Given the description of an element on the screen output the (x, y) to click on. 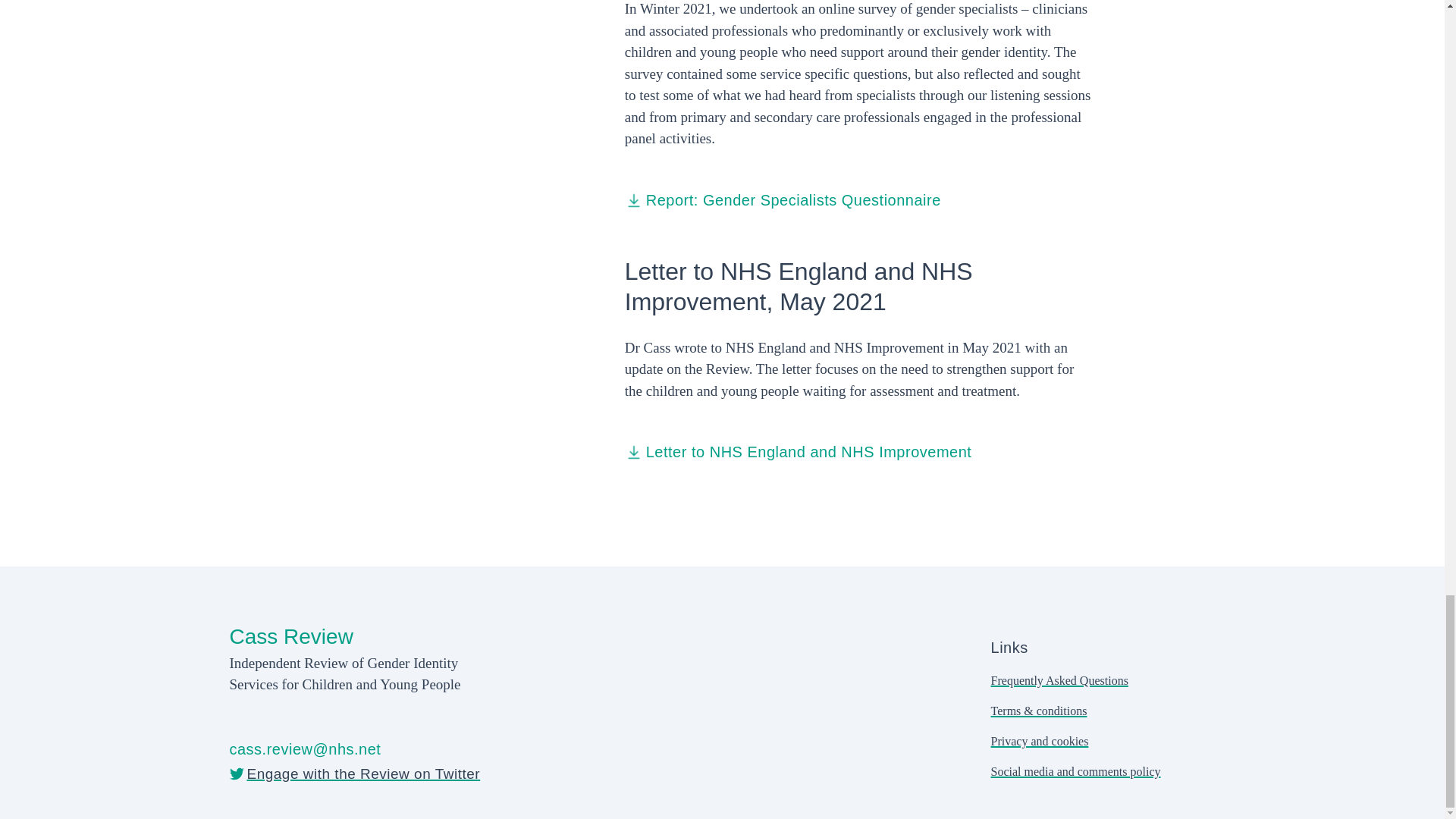
Engage with the Review on Twitter (354, 773)
Letter to NHS England and NHS Improvement (798, 452)
Report: Gender Specialists Questionnaire (782, 199)
